Given the description of an element on the screen output the (x, y) to click on. 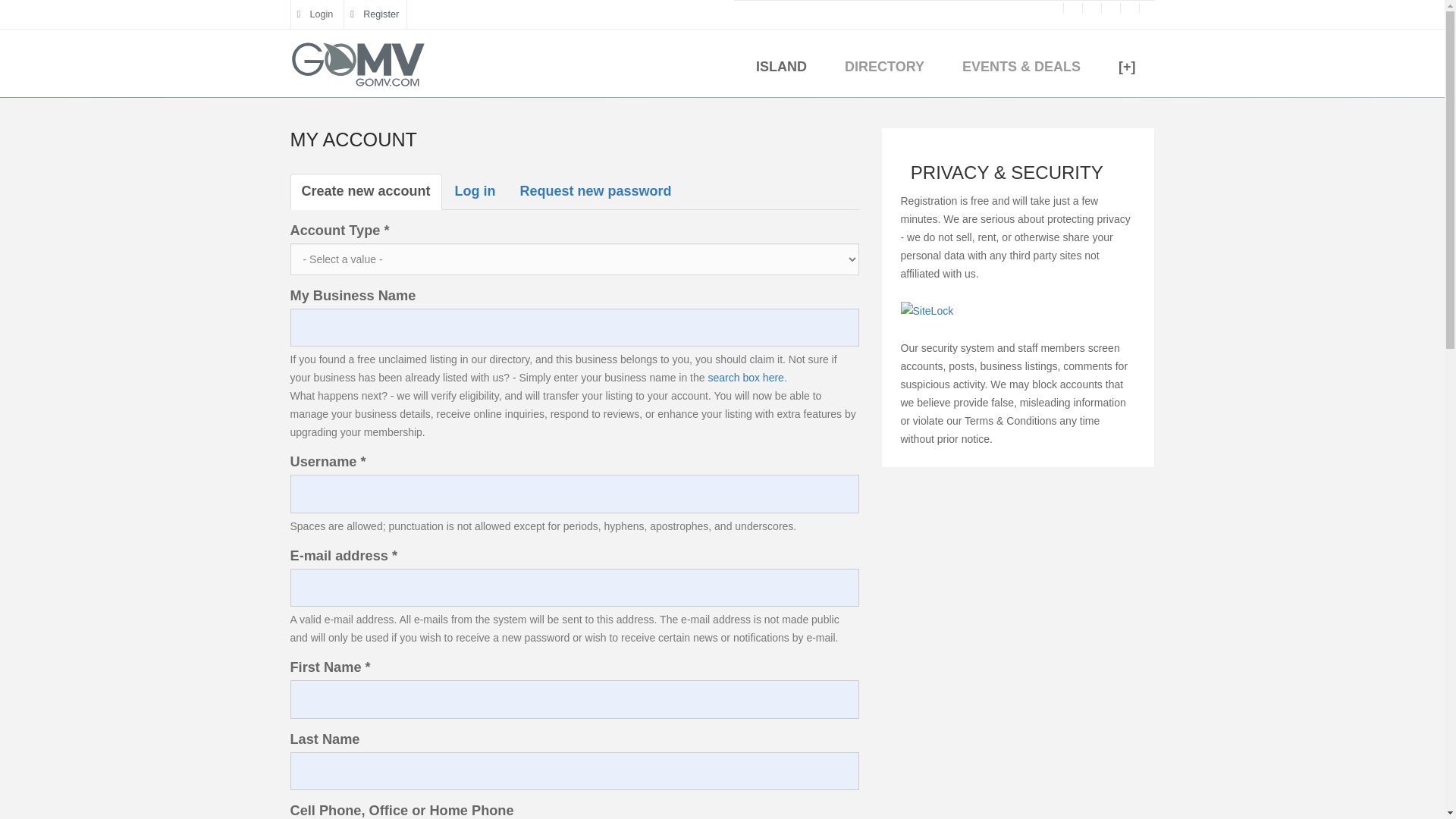
Request new password (595, 191)
Log in (475, 191)
Register (374, 13)
Login (315, 13)
Martha's Vineyard (357, 67)
SiteLock (1018, 311)
search box here (745, 377)
DIRECTORY (884, 71)
